Given the description of an element on the screen output the (x, y) to click on. 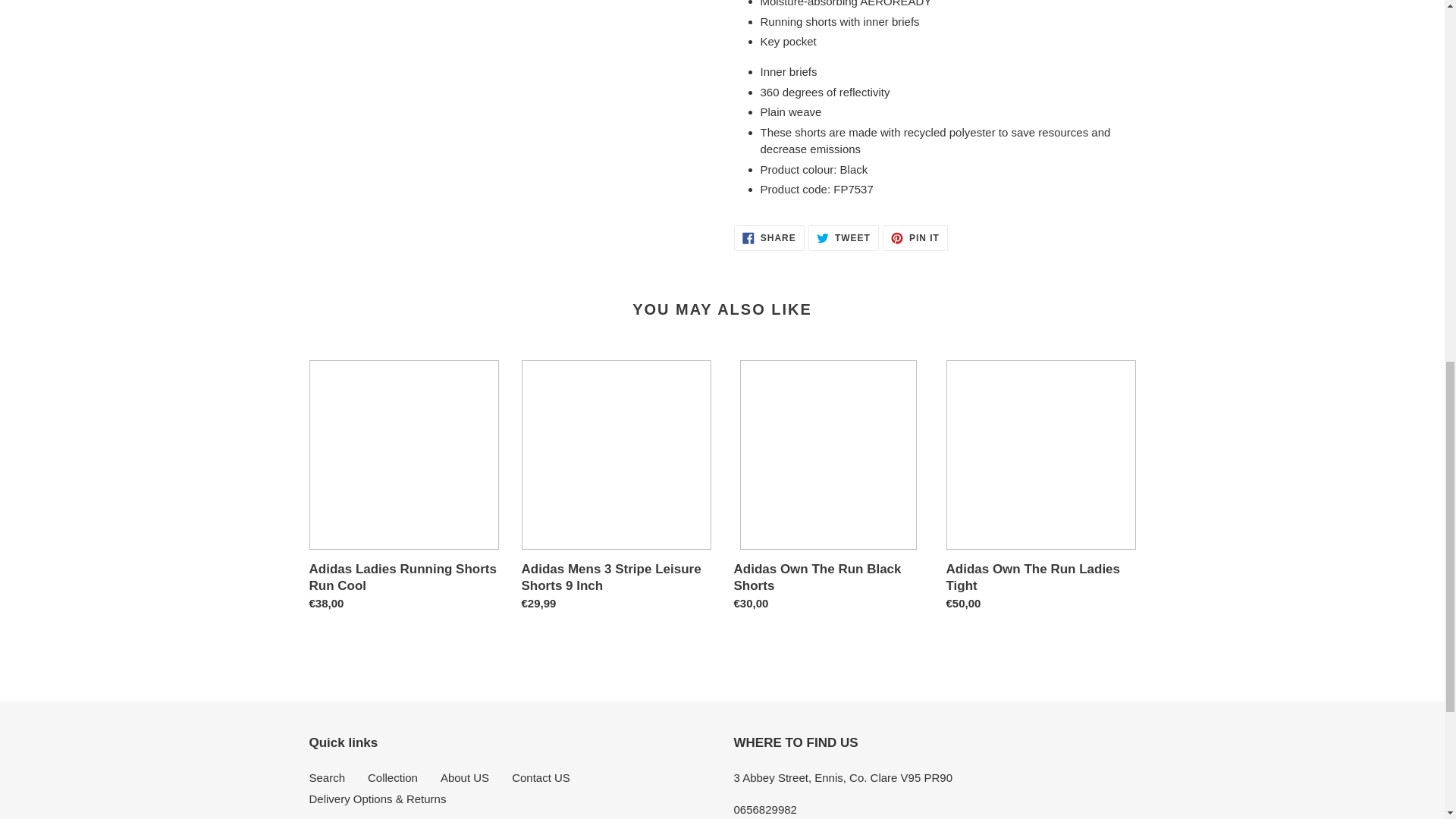
Contact US (843, 237)
About US (541, 777)
Search (914, 237)
Collection (465, 777)
